Given the description of an element on the screen output the (x, y) to click on. 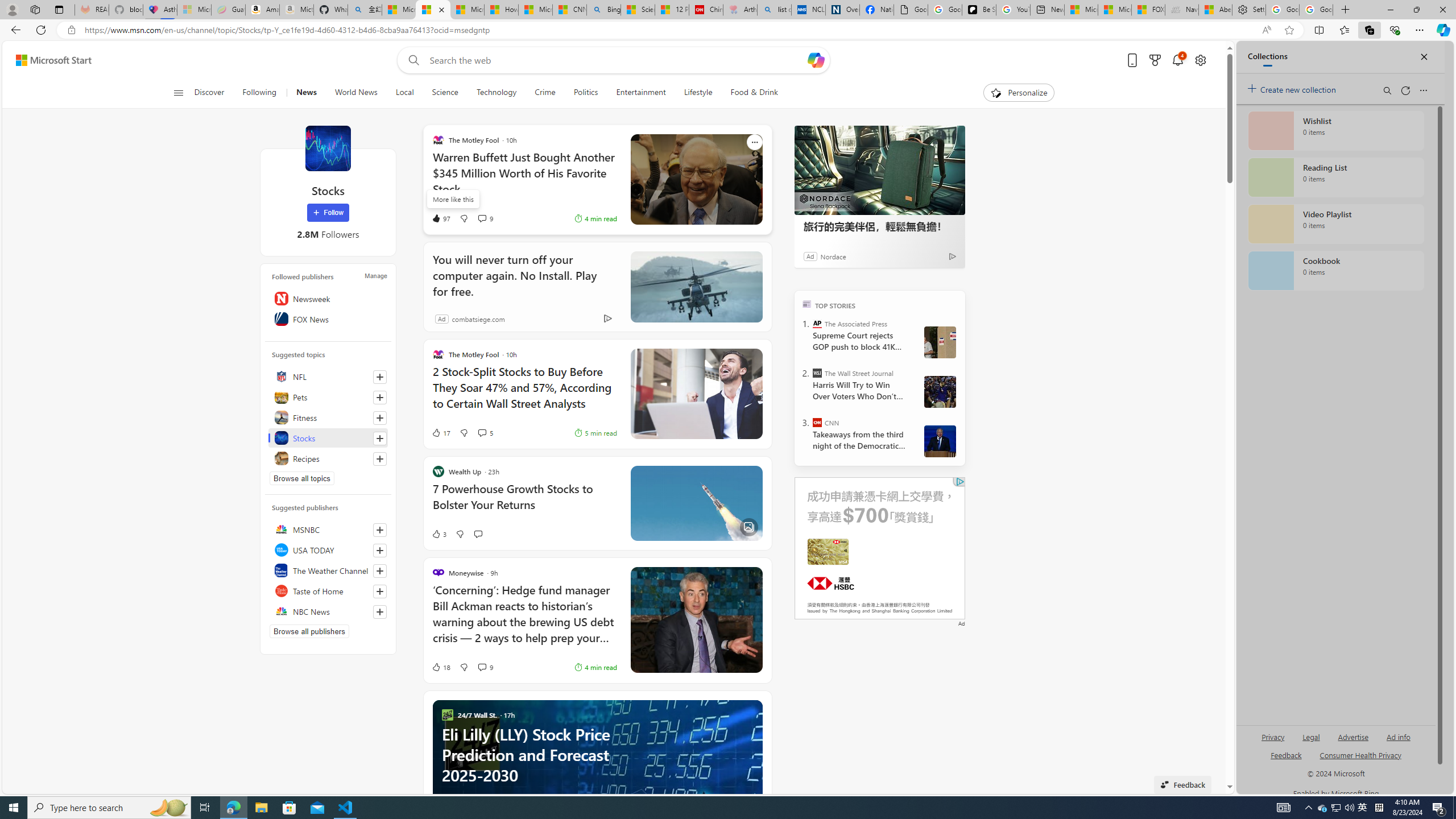
Google Analytics Opt-out Browser Add-on Download Page (911, 9)
Class: qc-adchoices-link top-right  (959, 481)
